Given the description of an element on the screen output the (x, y) to click on. 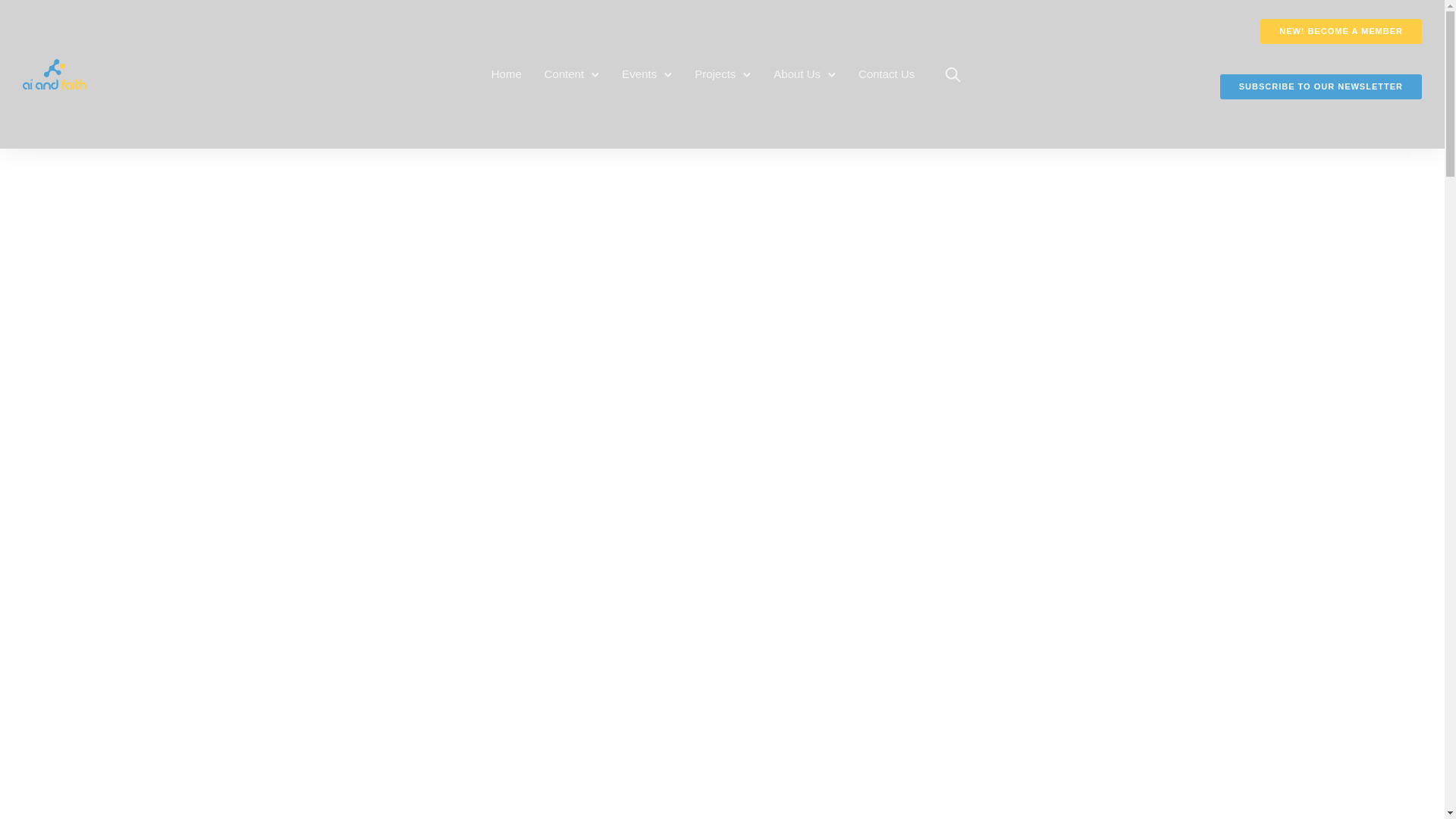
Content (564, 73)
Projects (714, 73)
Home (506, 73)
Events (638, 73)
Contact Us (885, 73)
About Us (796, 73)
Home (506, 73)
Content (564, 73)
Projects (714, 73)
About  Us (796, 73)
